Given the description of an element on the screen output the (x, y) to click on. 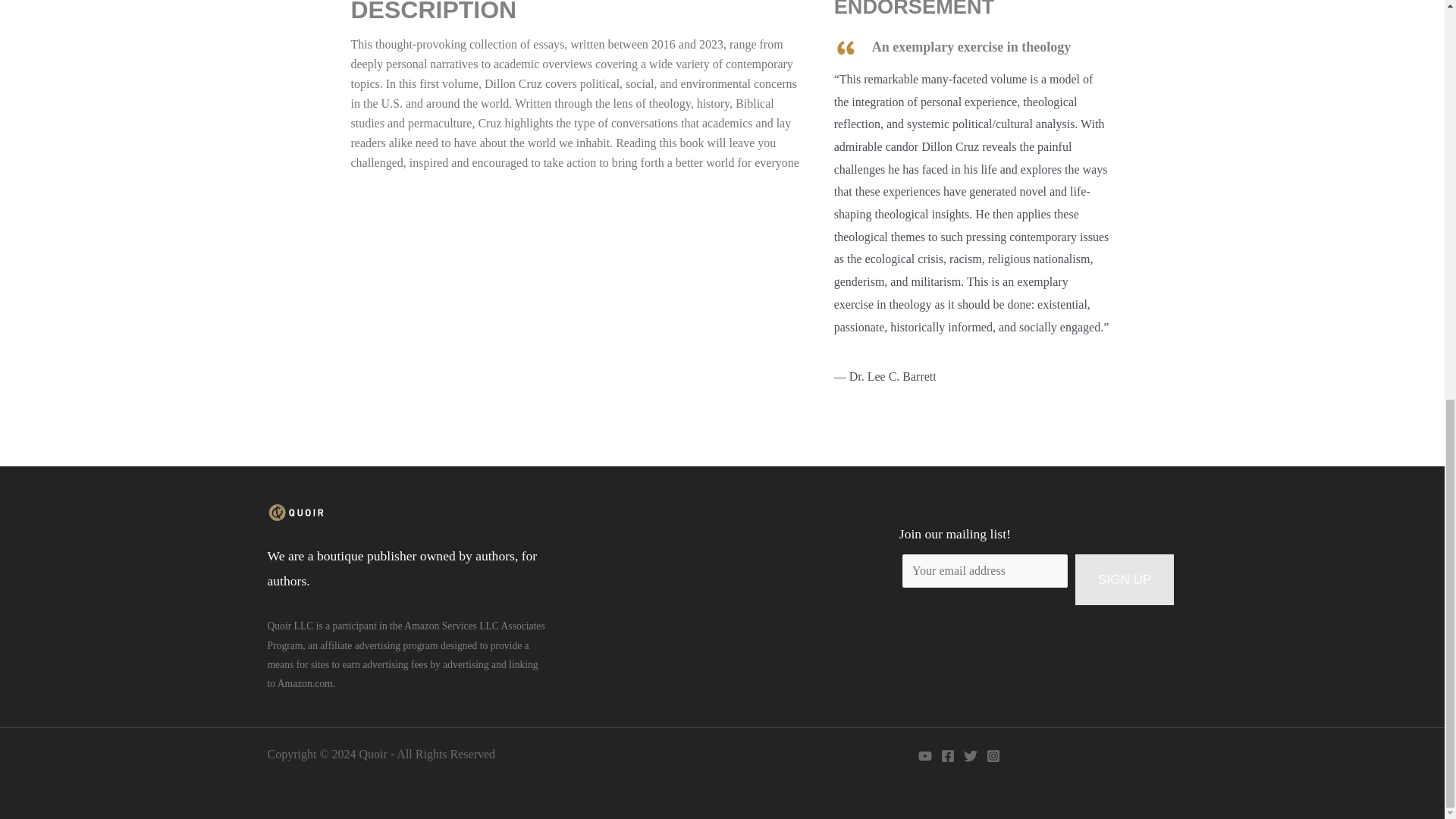
Sign up (1124, 580)
